Given the description of an element on the screen output the (x, y) to click on. 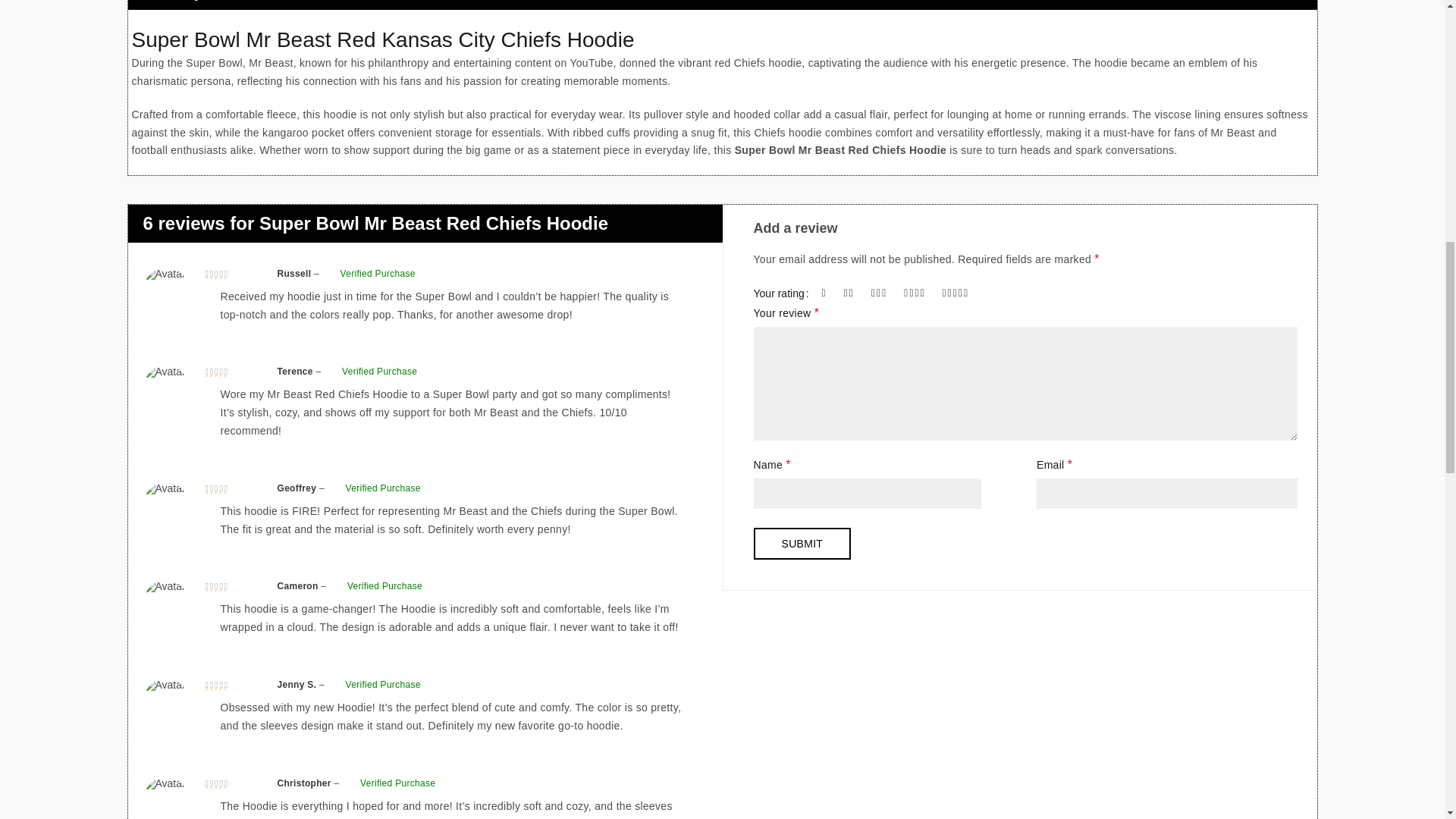
Submit (802, 543)
